Given the description of an element on the screen output the (x, y) to click on. 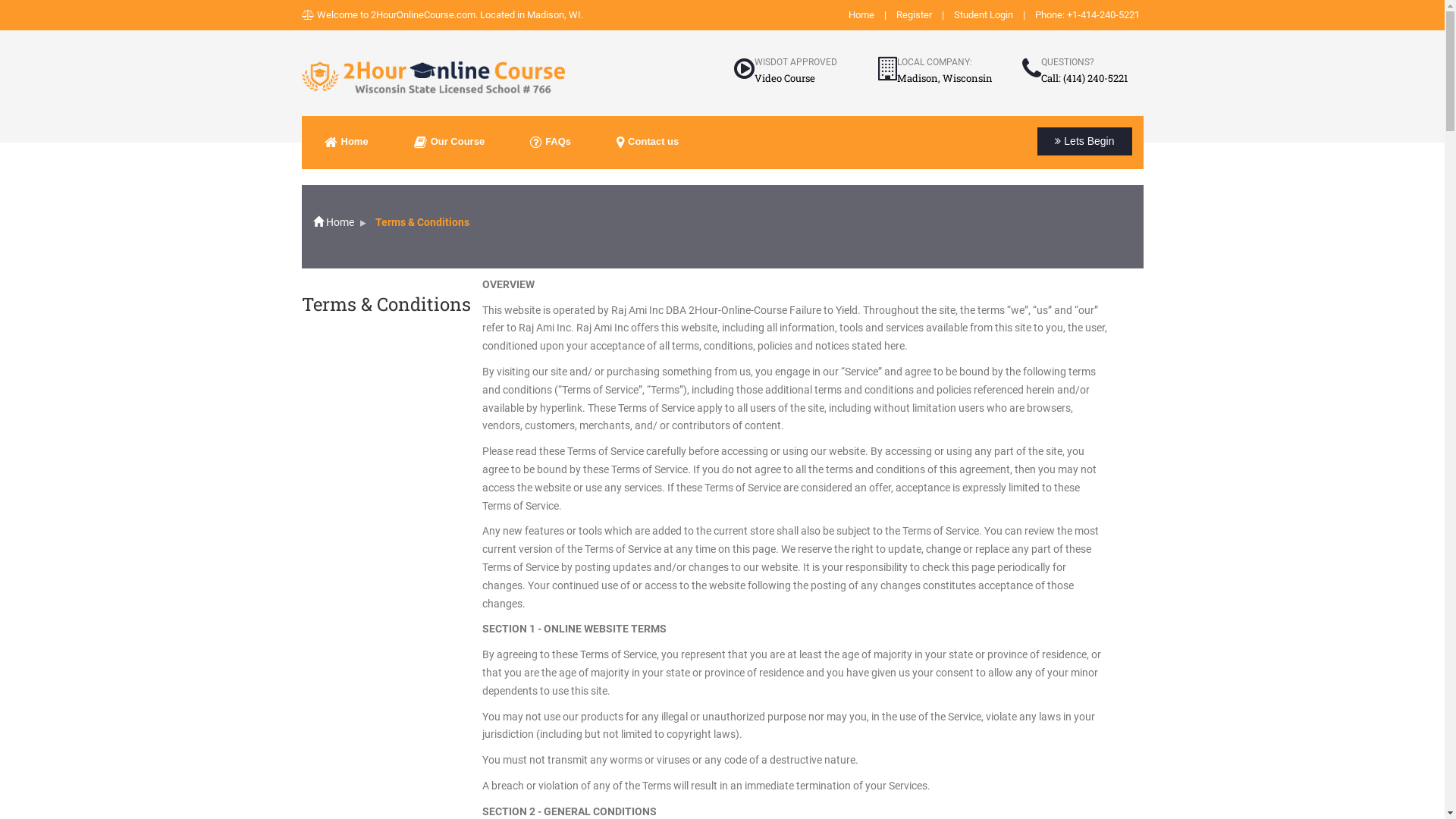
QUESTIONS? Element type: text (1066, 61)
Register Element type: text (913, 14)
WISDOT APPROVED Element type: text (794, 61)
Home Element type: text (346, 142)
Contact us Element type: text (647, 142)
Student Login Element type: text (983, 14)
Phone: +1-414-240-5221 Element type: text (1086, 14)
Home Element type: text (332, 222)
LOCAL COMPANY: Element type: text (933, 61)
FAQs Element type: text (550, 142)
Our Course Element type: text (449, 142)
Lets Begin Element type: text (1084, 141)
Home Element type: text (860, 14)
